Given the description of an element on the screen output the (x, y) to click on. 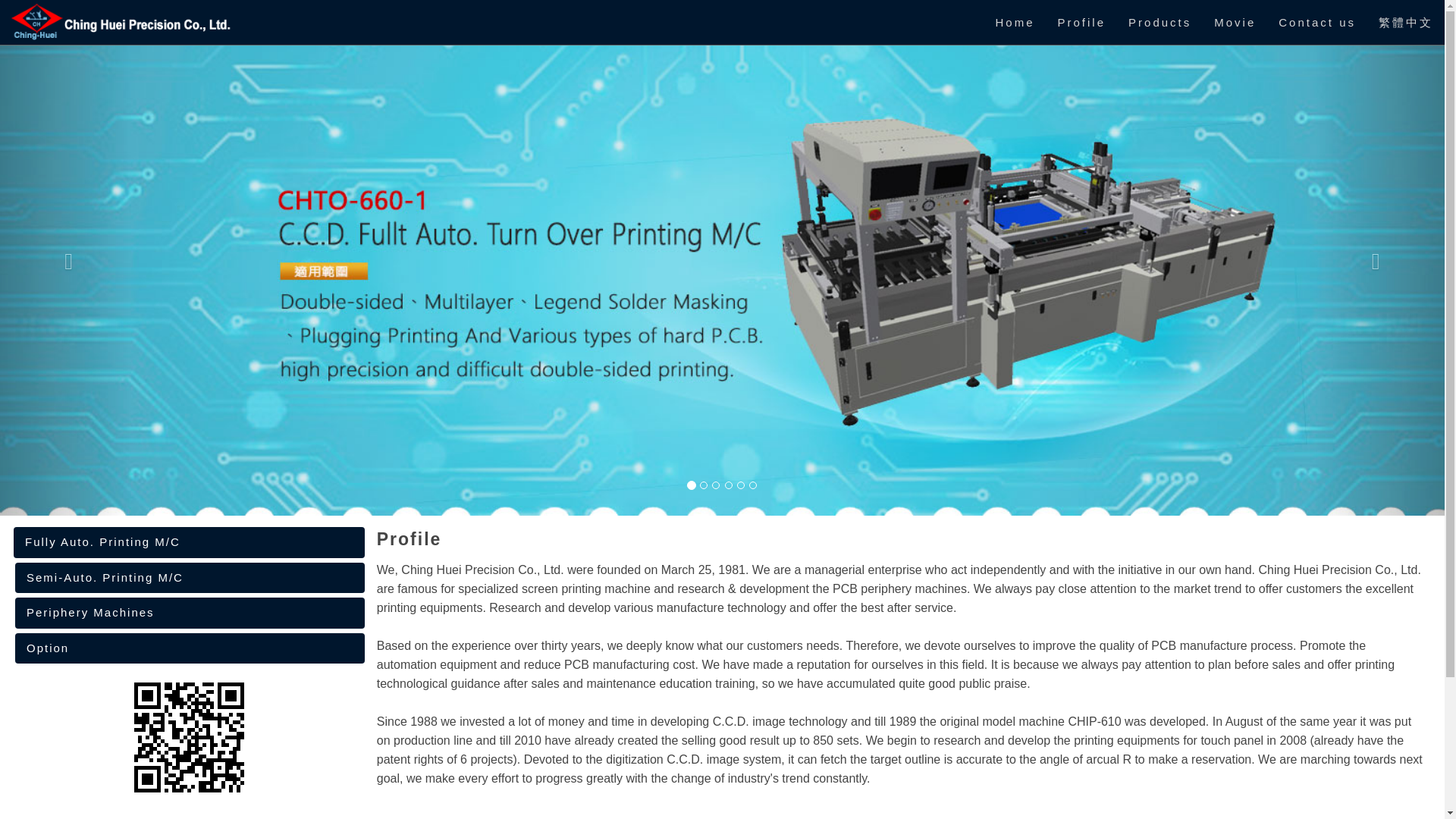
Home (1015, 22)
Profile (1082, 22)
Periphery Machines (189, 612)
Option (189, 648)
Movie (1234, 22)
Contact us (1316, 22)
Products (1159, 22)
